Given the description of an element on the screen output the (x, y) to click on. 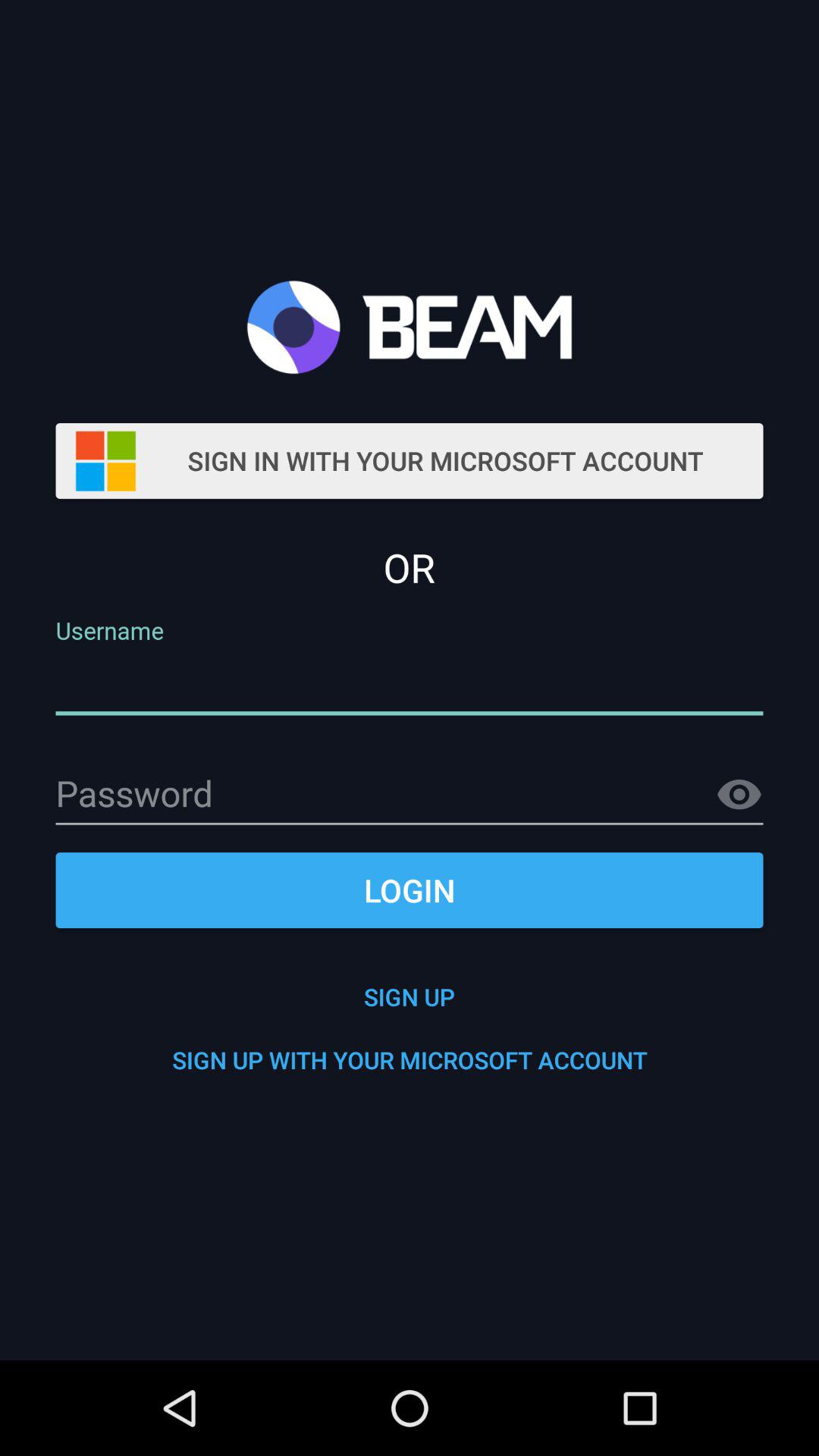
show (739, 795)
